Given the description of an element on the screen output the (x, y) to click on. 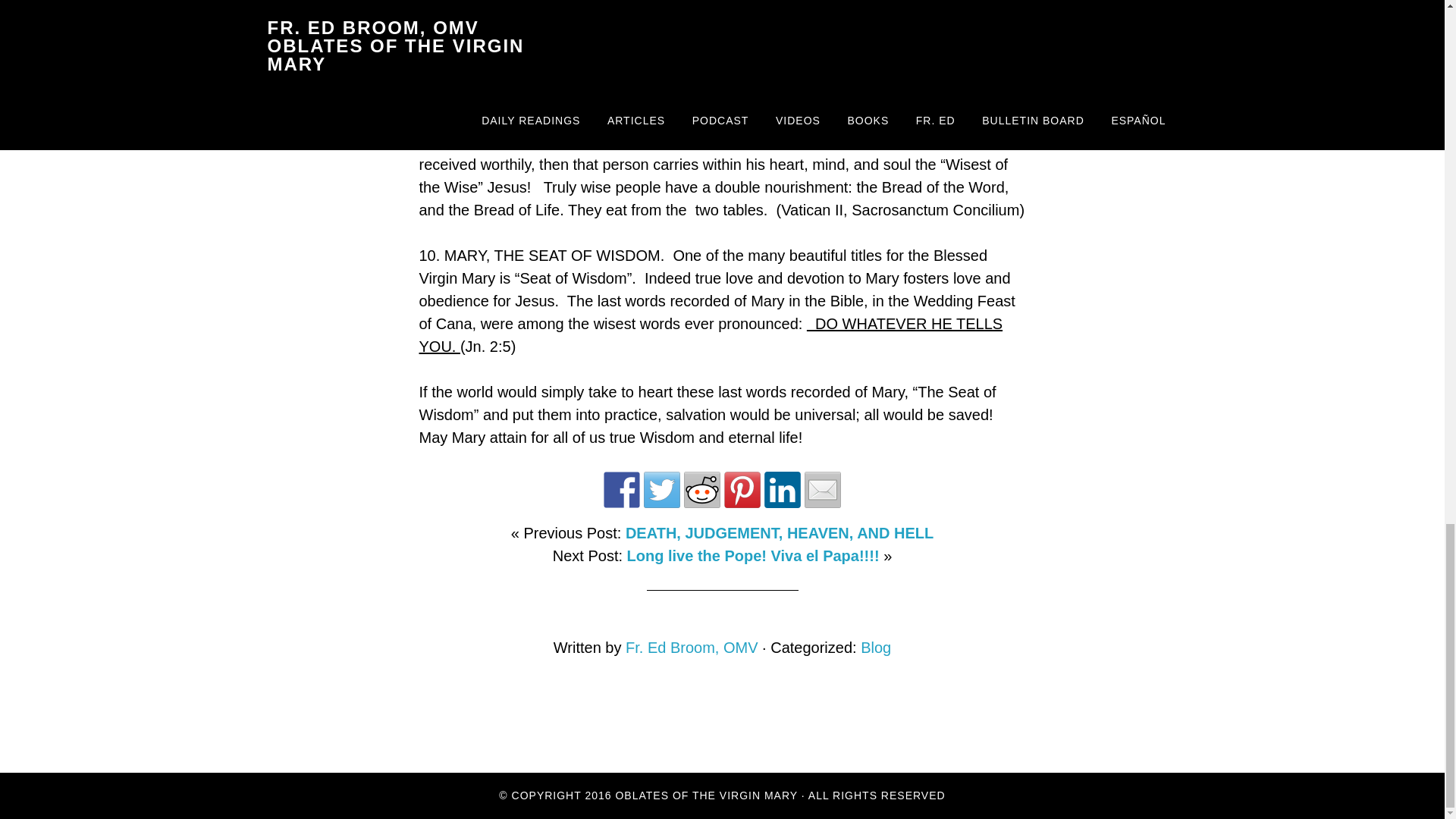
Share on Facebook (622, 489)
Blog (875, 647)
Fr. Ed Broom, OMV (691, 647)
Share on Linkedin (782, 489)
Share by email (823, 489)
Share on Reddit (702, 489)
Pin it with Pinterest (741, 489)
Share on Twitter (661, 489)
Long live the Pope! Viva el Papa!!!! (753, 555)
DEATH, JUDGEMENT, HEAVEN, AND HELL (779, 532)
